Given the description of an element on the screen output the (x, y) to click on. 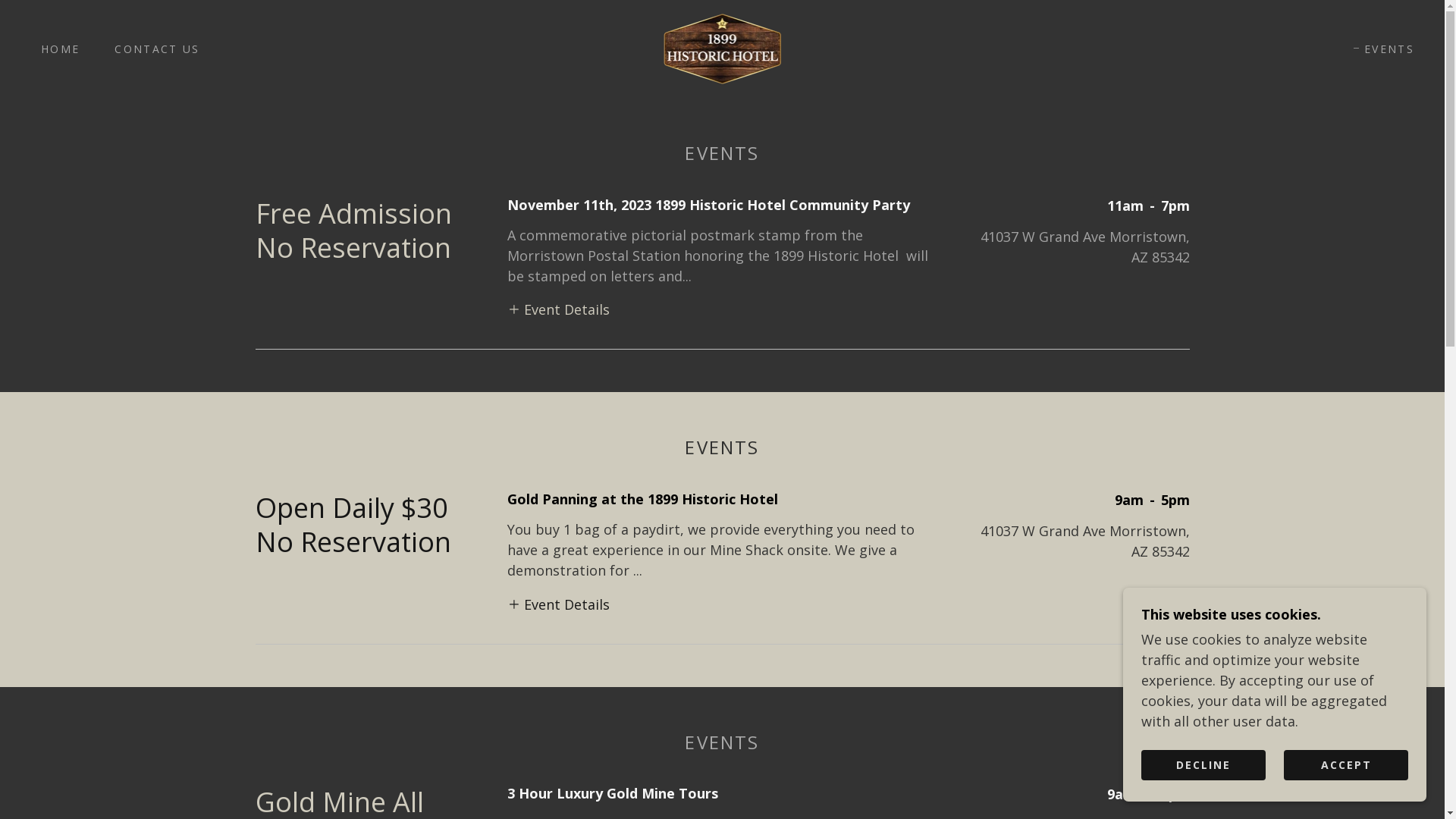
ACCEPT Element type: text (1345, 764)
DECLINE Element type: text (1203, 764)
HOME Element type: text (54, 48)
1899 Historic Hotel 
480-493-9329 Element type: hover (722, 46)
CONTACT US Element type: text (151, 48)
EVENTS Element type: text (1383, 48)
